Given the description of an element on the screen output the (x, y) to click on. 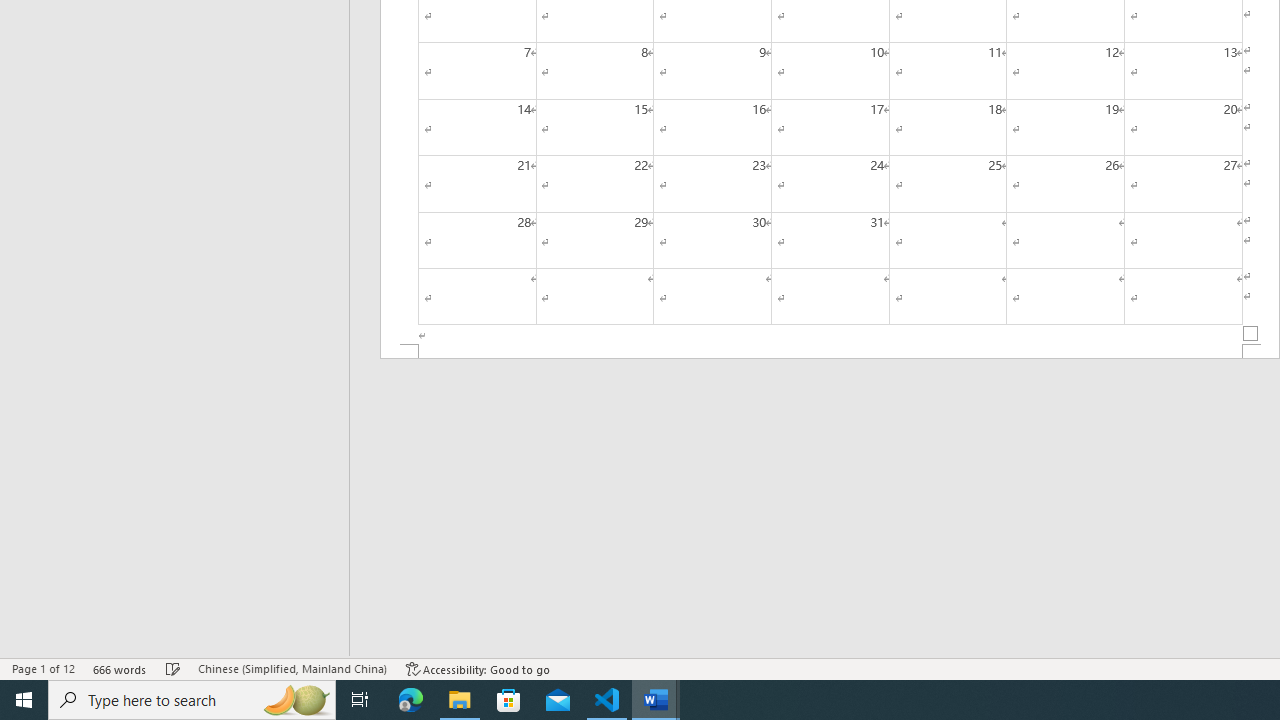
Accessibility Checker Accessibility: Good to go (478, 668)
Spelling and Grammar Check Checking (173, 668)
Type here to search (191, 699)
Search highlights icon opens search home window (295, 699)
File Explorer - 1 running window (460, 699)
Visual Studio Code - 1 running window (607, 699)
Language Chinese (Simplified, Mainland China) (292, 668)
Task View (359, 699)
Footer -Section 1- (830, 351)
Microsoft Edge (411, 699)
Word - 2 running windows (656, 699)
Page Number Page 1 of 12 (43, 668)
Start (24, 699)
Microsoft Store (509, 699)
